Given the description of an element on the screen output the (x, y) to click on. 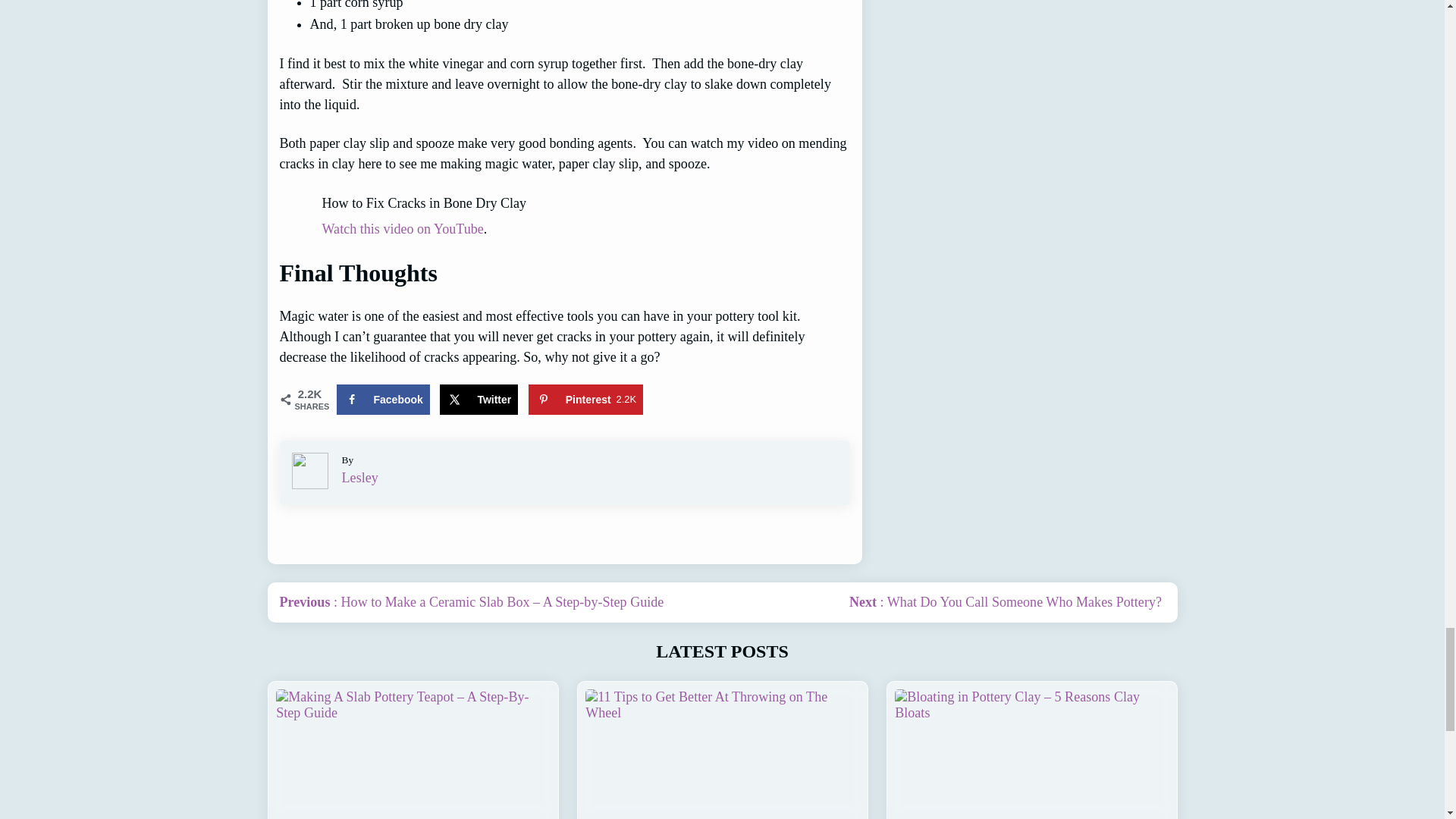
Share on Facebook (382, 399)
Save to Pinterest (585, 399)
How to Fix Cracks in Bone Dry Clay (563, 203)
Share on X (478, 399)
